Given the description of an element on the screen output the (x, y) to click on. 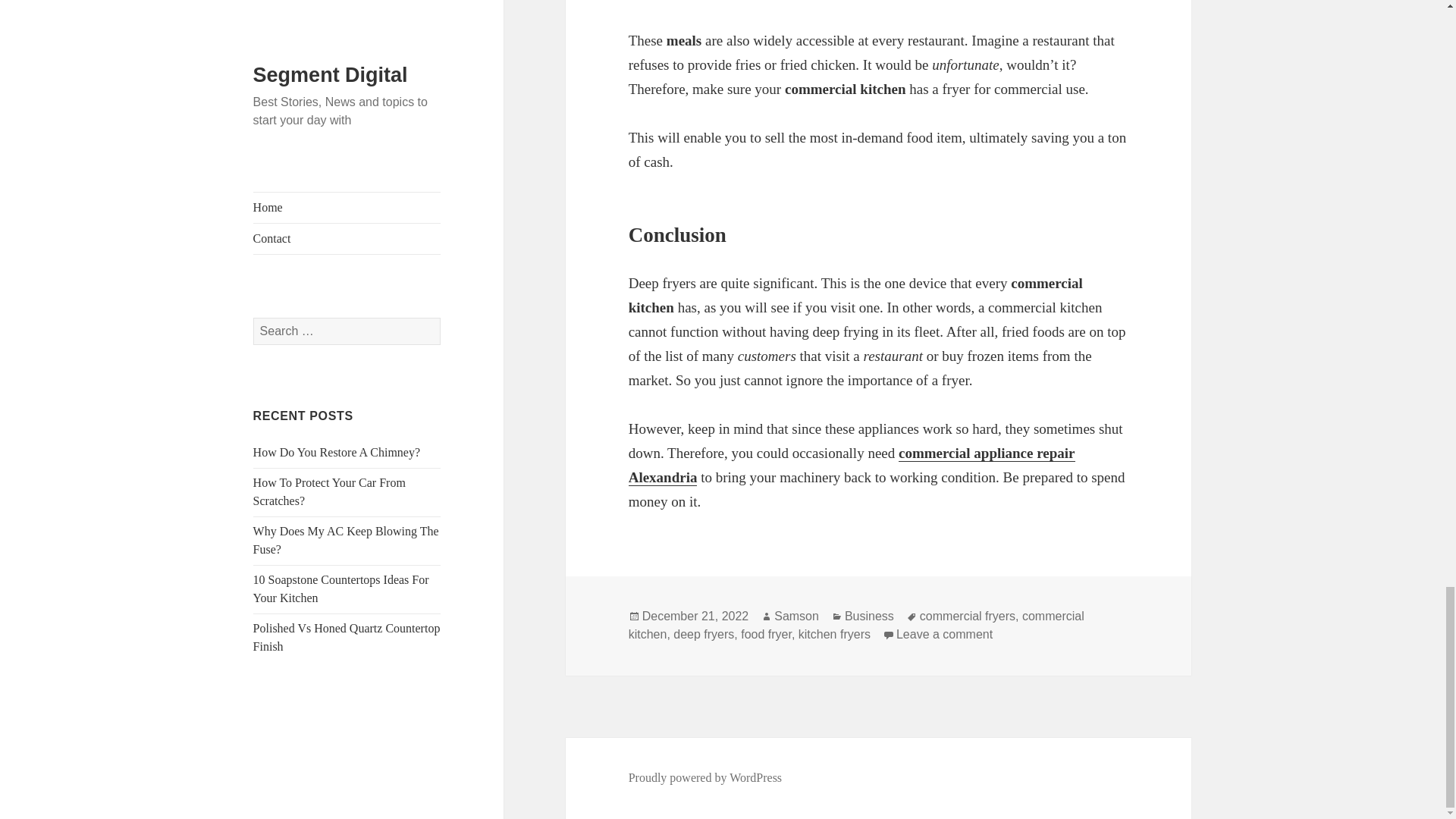
deep fryers (702, 634)
Proudly powered by WordPress (704, 777)
Samson (796, 616)
December 21, 2022 (695, 616)
food fryer (766, 634)
commercial fryers (967, 616)
Business (868, 616)
kitchen fryers (833, 634)
commercial appliance repair Alexandria (851, 465)
